Given the description of an element on the screen output the (x, y) to click on. 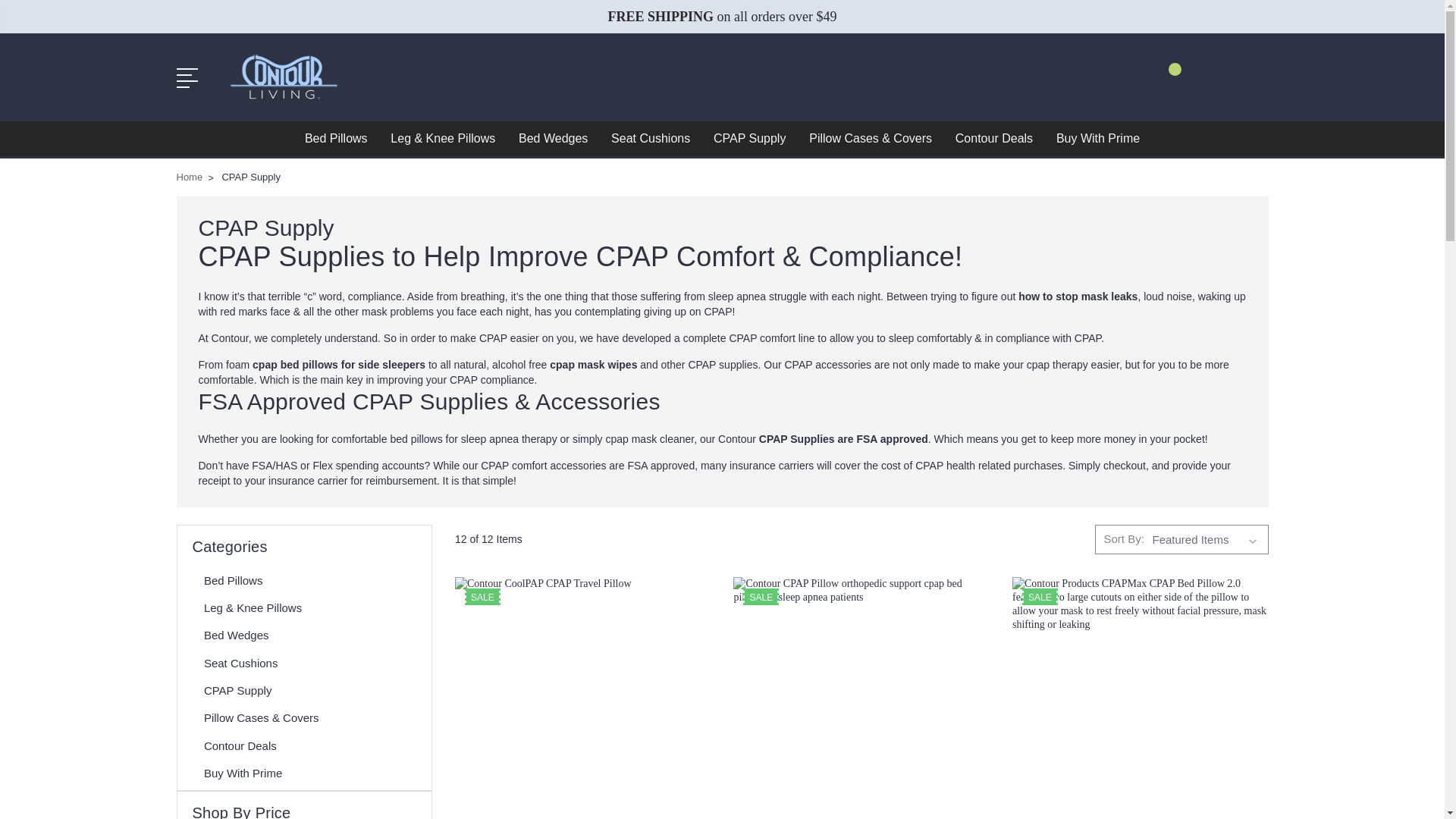
Bed Pillows (335, 138)
Bed Pillows (237, 581)
Contour Deals (993, 138)
Home (189, 176)
how to stop mask leaks (1077, 295)
Bed Wedges (240, 635)
Contour CoolPAP CPAP Travel Pillow (582, 697)
Seat Cushions (650, 138)
cpap mask wipes (593, 363)
